Given the description of an element on the screen output the (x, y) to click on. 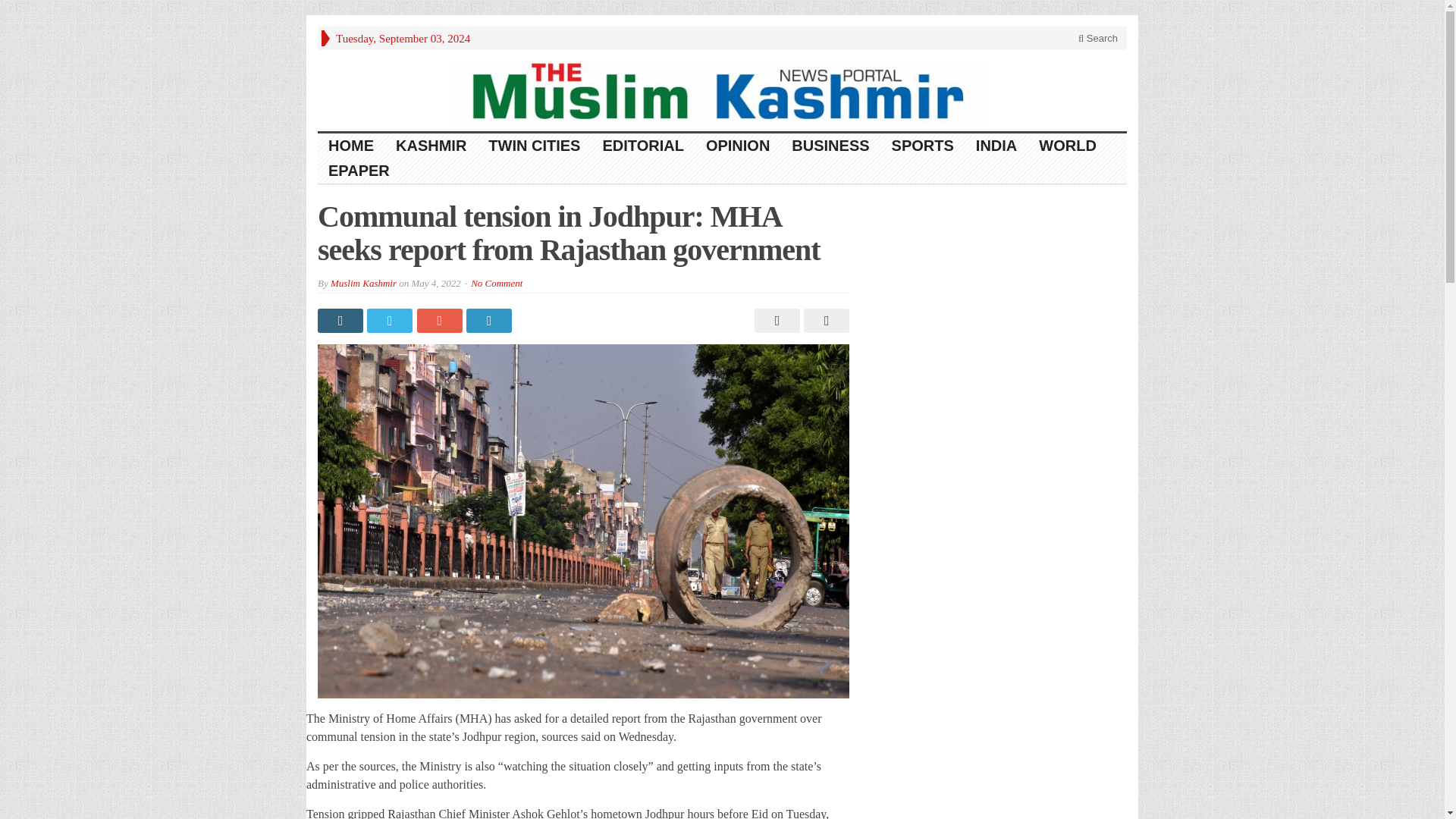
No Comment (496, 283)
KASHMIR (431, 145)
Search (1097, 37)
HOME (351, 145)
Share on LinkedIn (490, 320)
WORLD (1067, 145)
Share on Twitter (391, 320)
Muslim Kashmir (363, 283)
TWIN CITIES (534, 145)
